Given the description of an element on the screen output the (x, y) to click on. 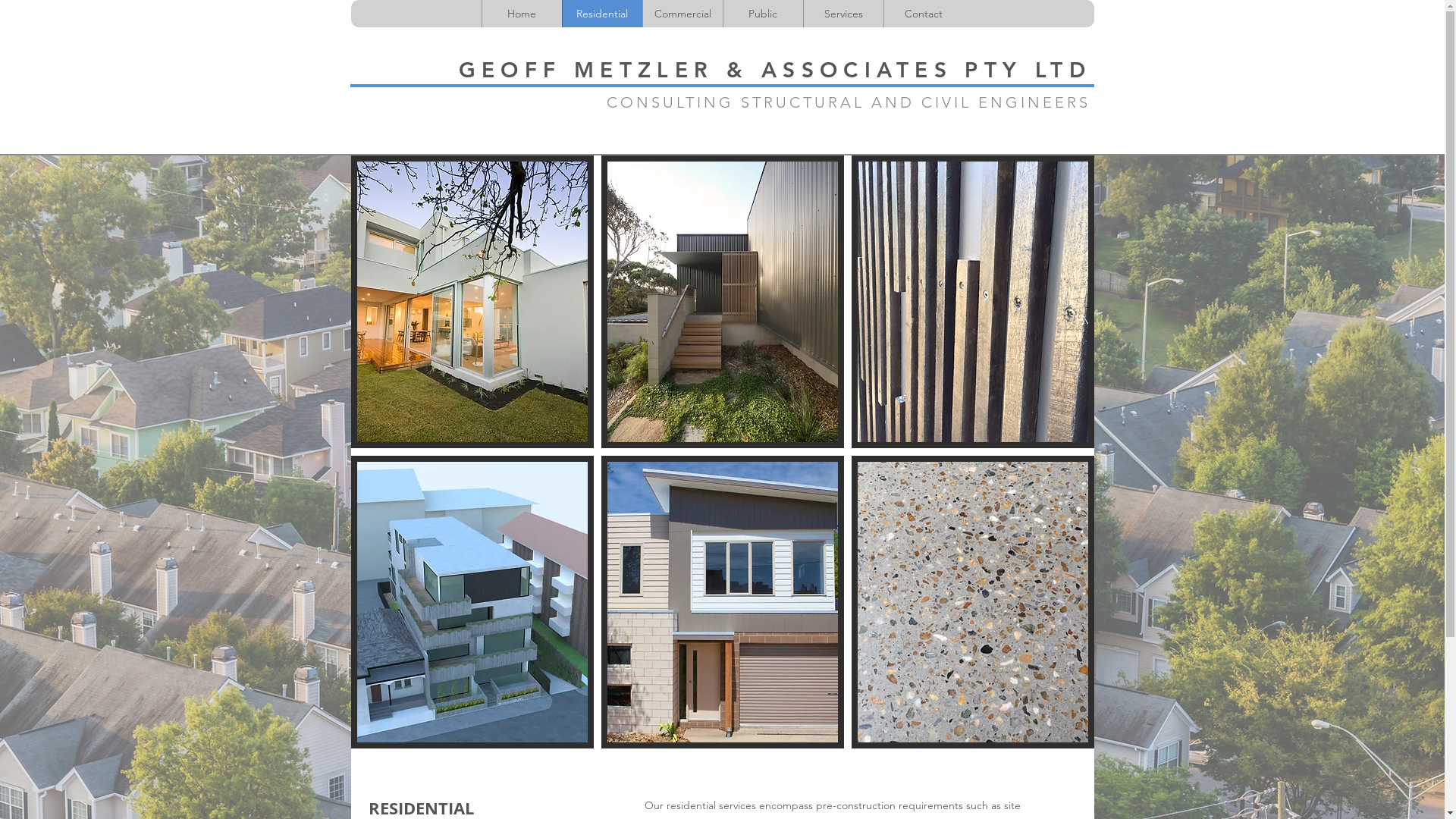
Home Element type: text (520, 13)
Residential Element type: text (601, 13)
Public Element type: text (761, 13)
Services Element type: text (842, 13)
Commercial Element type: text (681, 13)
Contact Element type: text (922, 13)
CONSULTING STRUCTURAL AND CIVIL ENGINEERS Element type: text (848, 102)
